Given the description of an element on the screen output the (x, y) to click on. 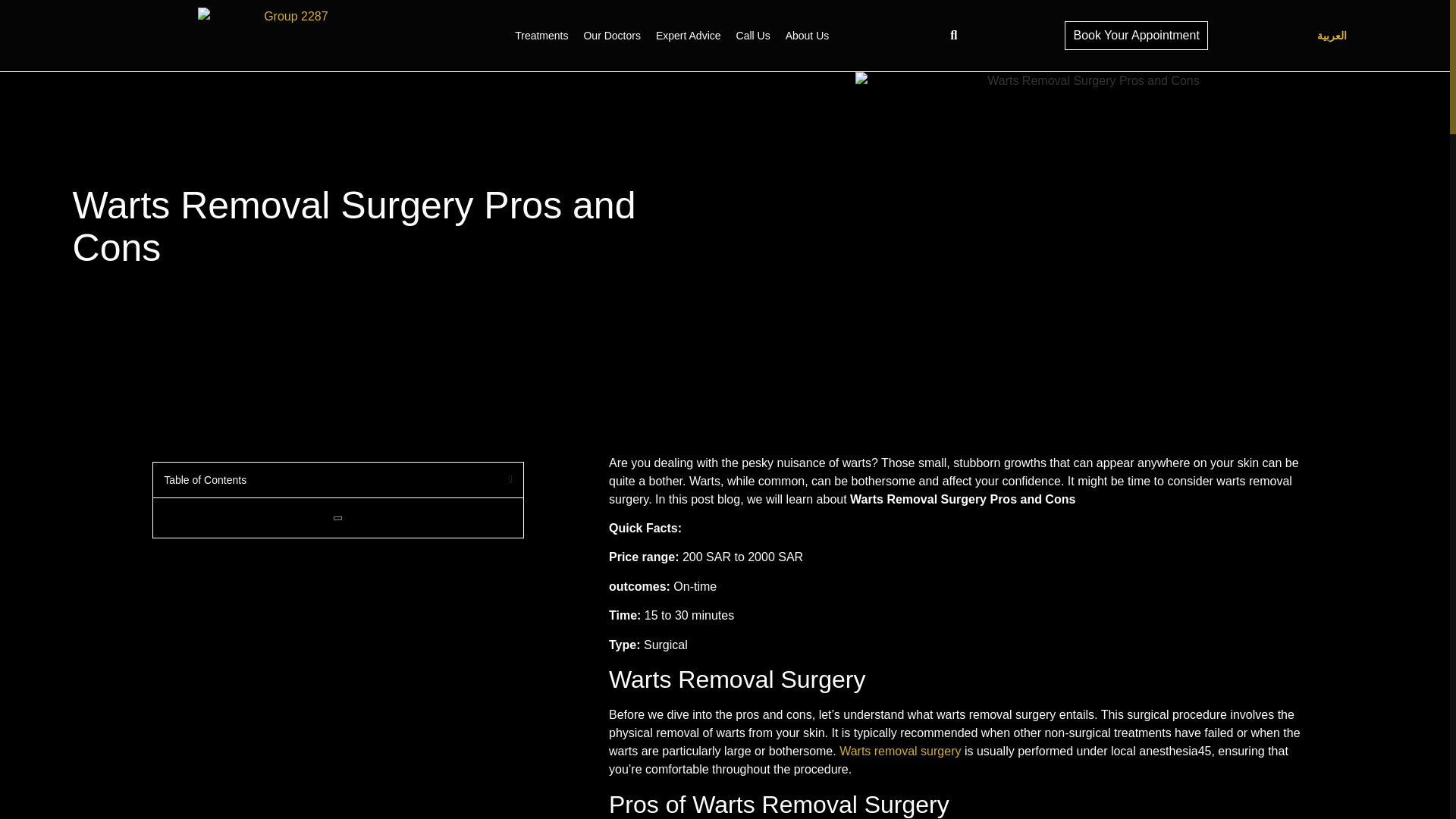
Warts removal surgery (900, 750)
Our Doctors (611, 35)
About Us (807, 35)
Call Us (753, 35)
Book Your Appointment (1135, 35)
Treatments (540, 35)
Expert Advice (688, 35)
